Given the description of an element on the screen output the (x, y) to click on. 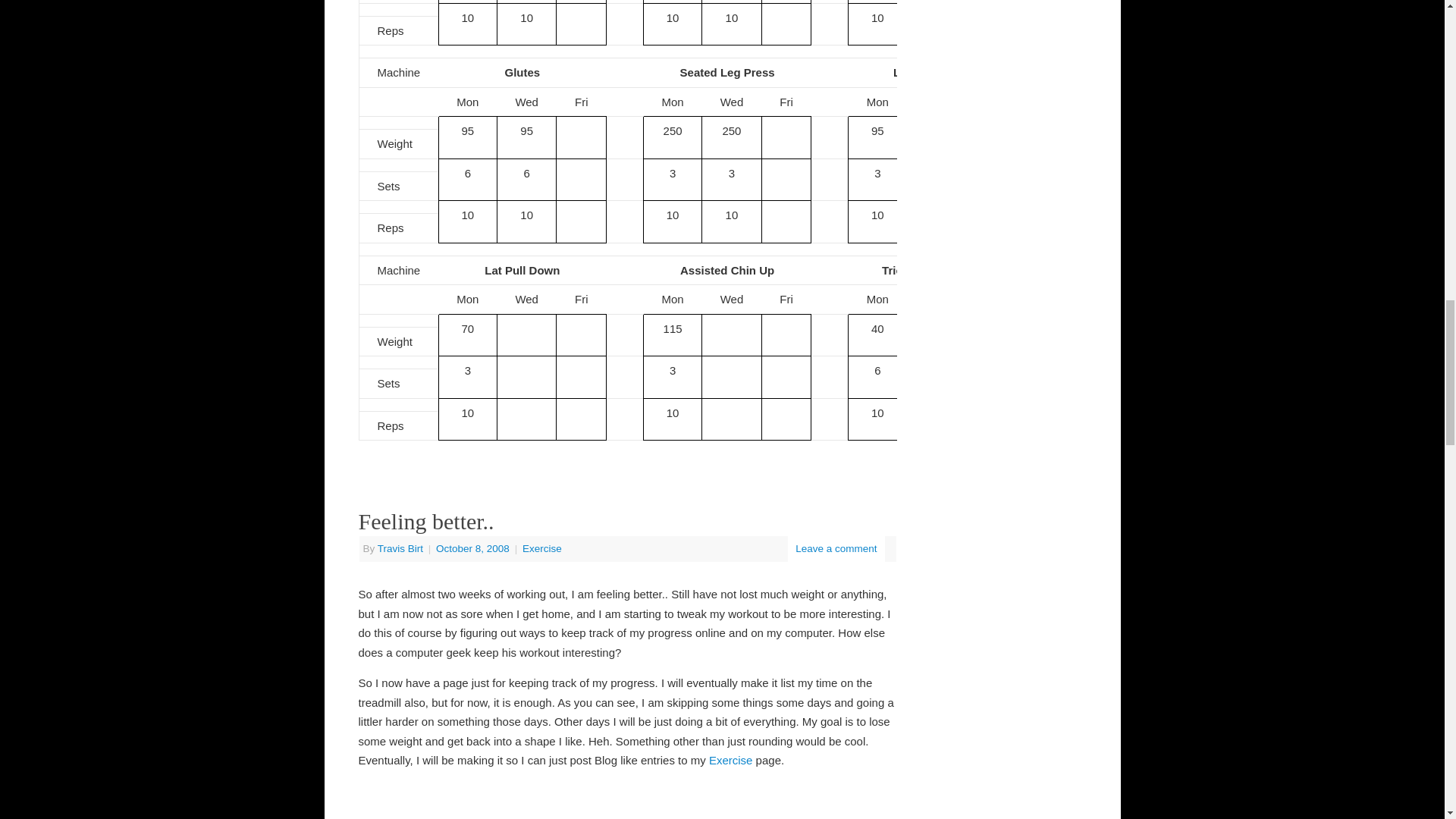
October 8, 2008 (473, 548)
Exercise (542, 548)
Leave a comment (835, 548)
Feeling better.. (425, 520)
Travis Birt (400, 548)
